Given the description of an element on the screen output the (x, y) to click on. 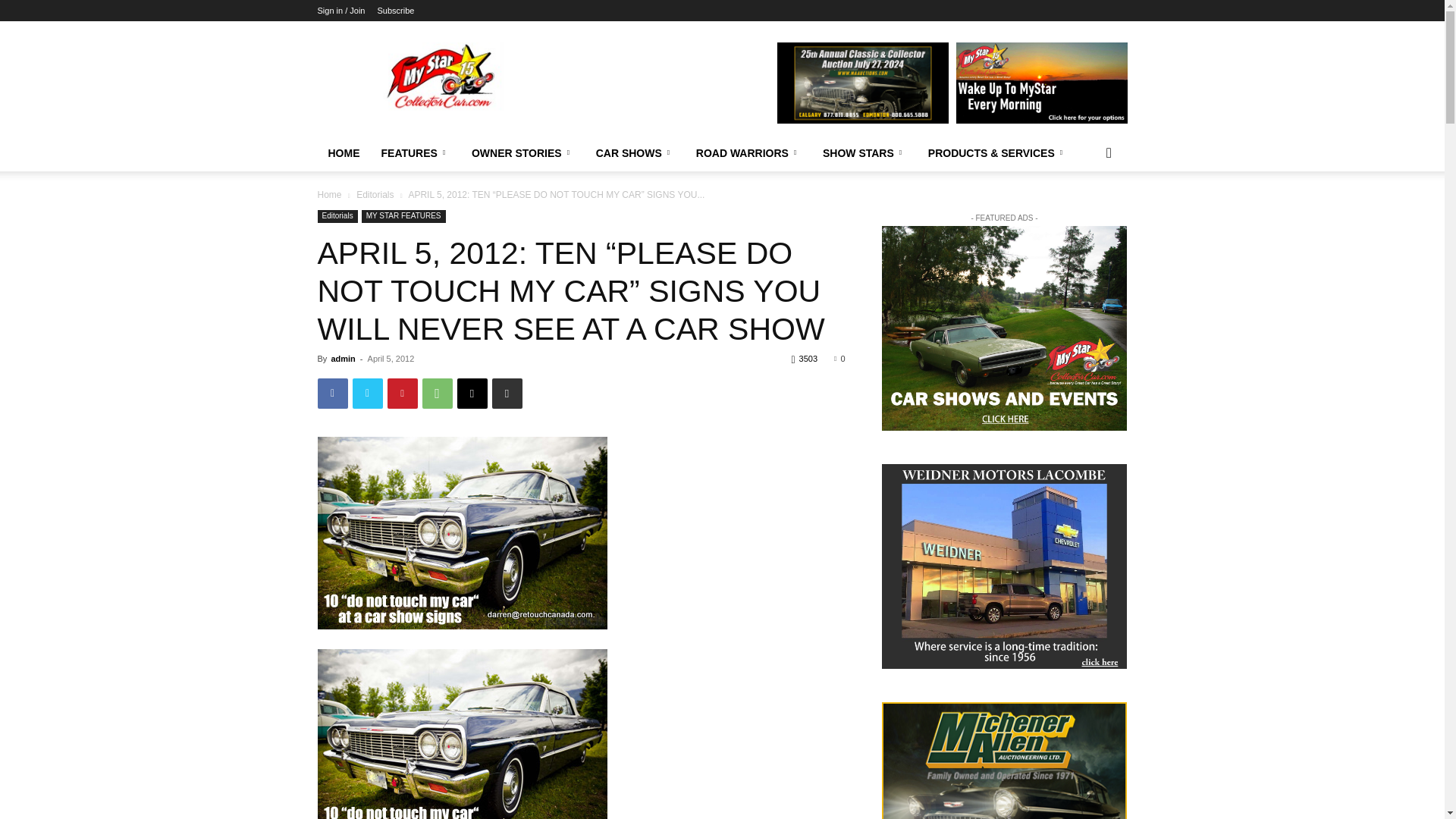
HOME (343, 153)
FEATURES (414, 153)
OWNER STORIES (523, 153)
Subscribe (395, 10)
